Given the description of an element on the screen output the (x, y) to click on. 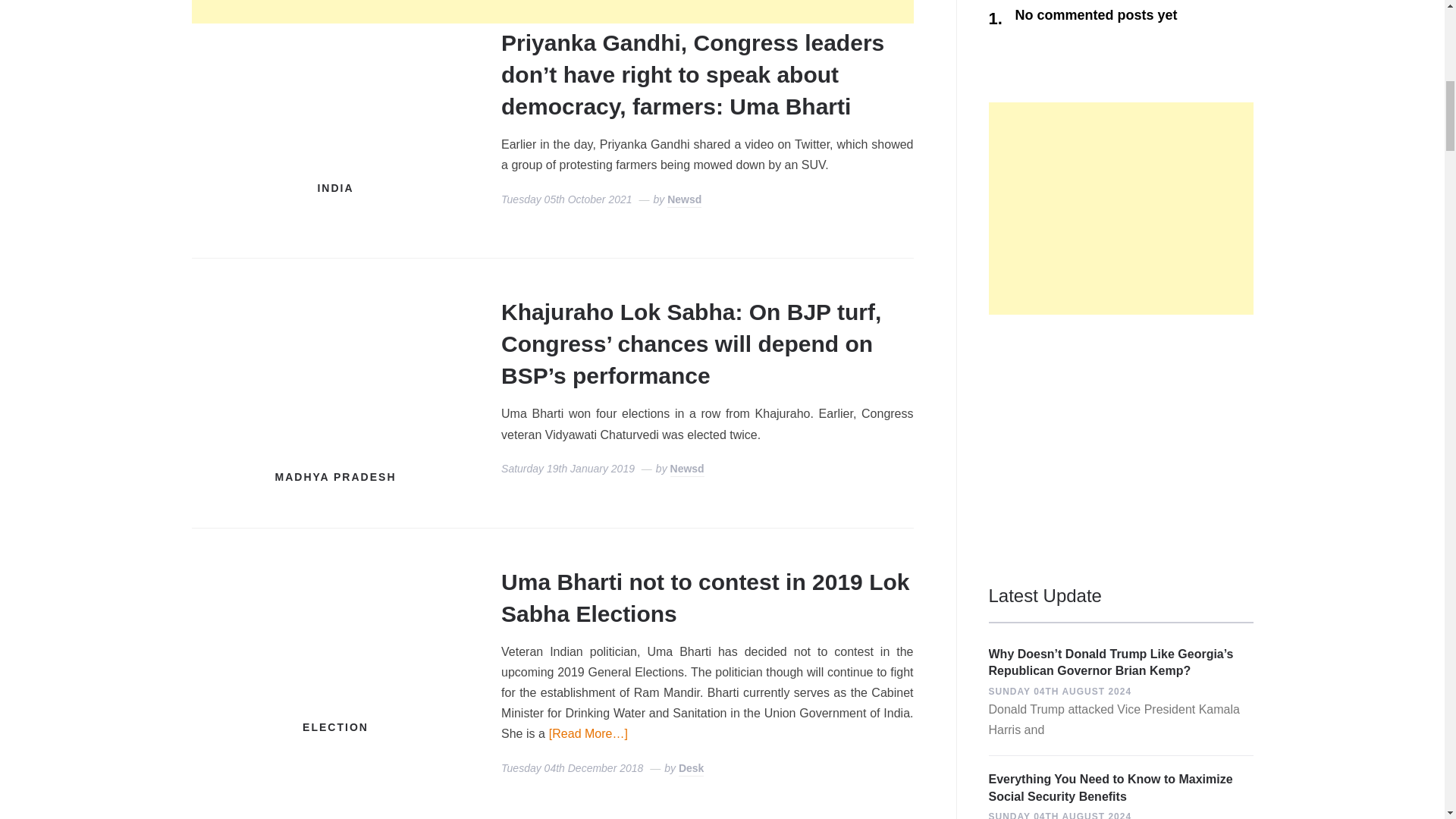
Posts by Desk (690, 769)
Posts by Newsd (686, 469)
Posts by Newsd (683, 200)
